Given the description of an element on the screen output the (x, y) to click on. 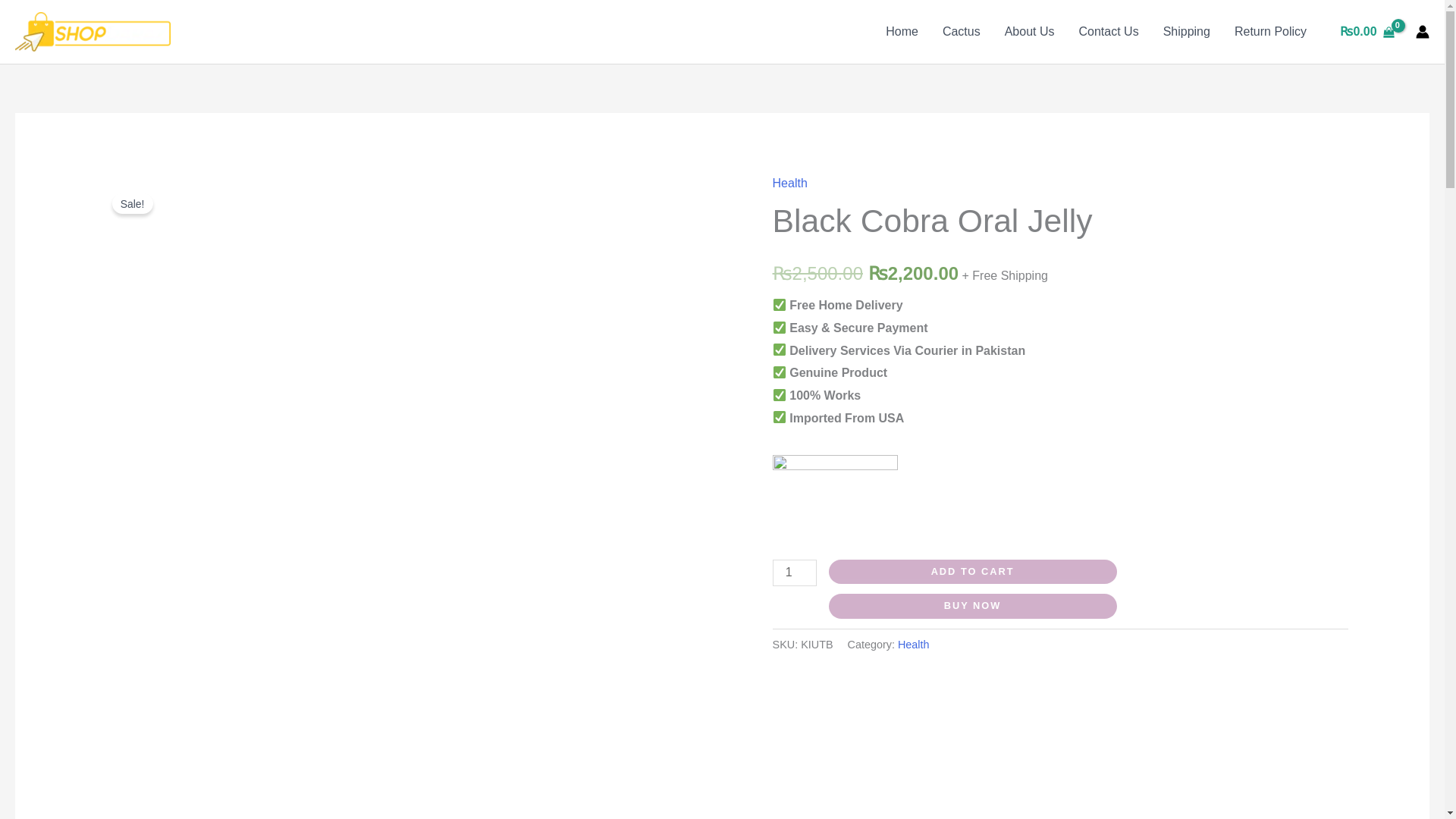
About Us (1029, 31)
Contact Us (1107, 31)
Health (790, 182)
Return Policy (1271, 31)
ADD TO CART (972, 571)
Health (914, 644)
1 (794, 572)
Cactus (961, 31)
BUY NOW (972, 606)
Shipping (1187, 31)
